Given the description of an element on the screen output the (x, y) to click on. 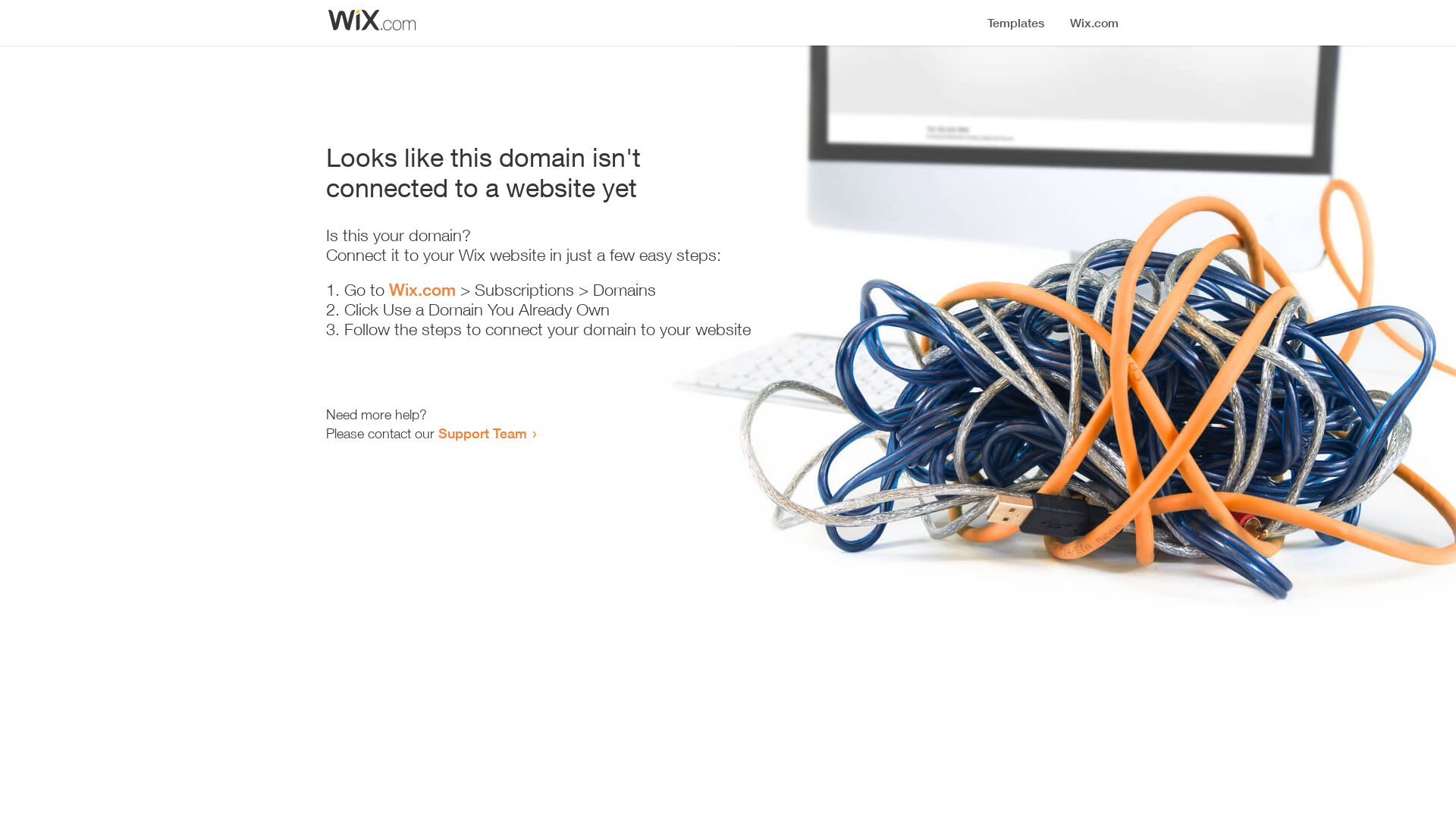
Support Team Element type: text (482, 432)
Wix.com Element type: text (422, 289)
